Given the description of an element on the screen output the (x, y) to click on. 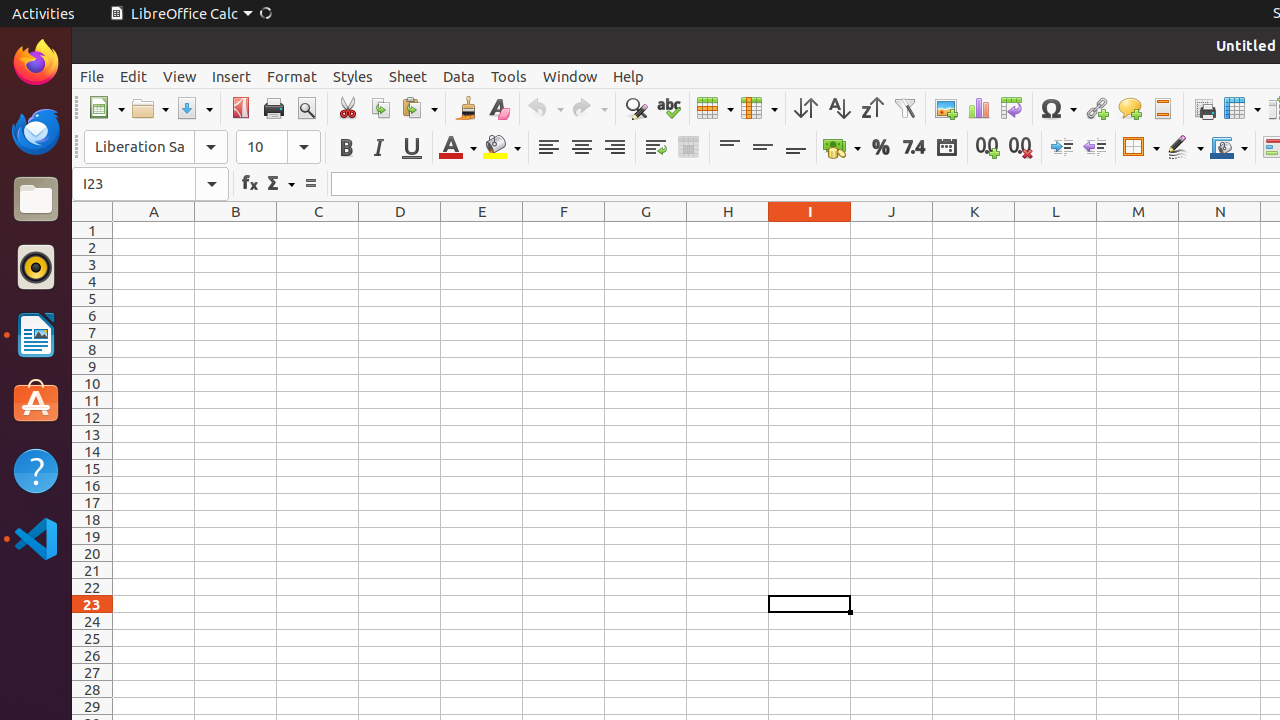
AutoFilter Element type: push-button (904, 108)
Font Name Element type: text (139, 147)
Select Function Element type: push-button (280, 183)
Align Right Element type: push-button (614, 147)
F1 Element type: table-cell (564, 230)
